Given the description of an element on the screen output the (x, y) to click on. 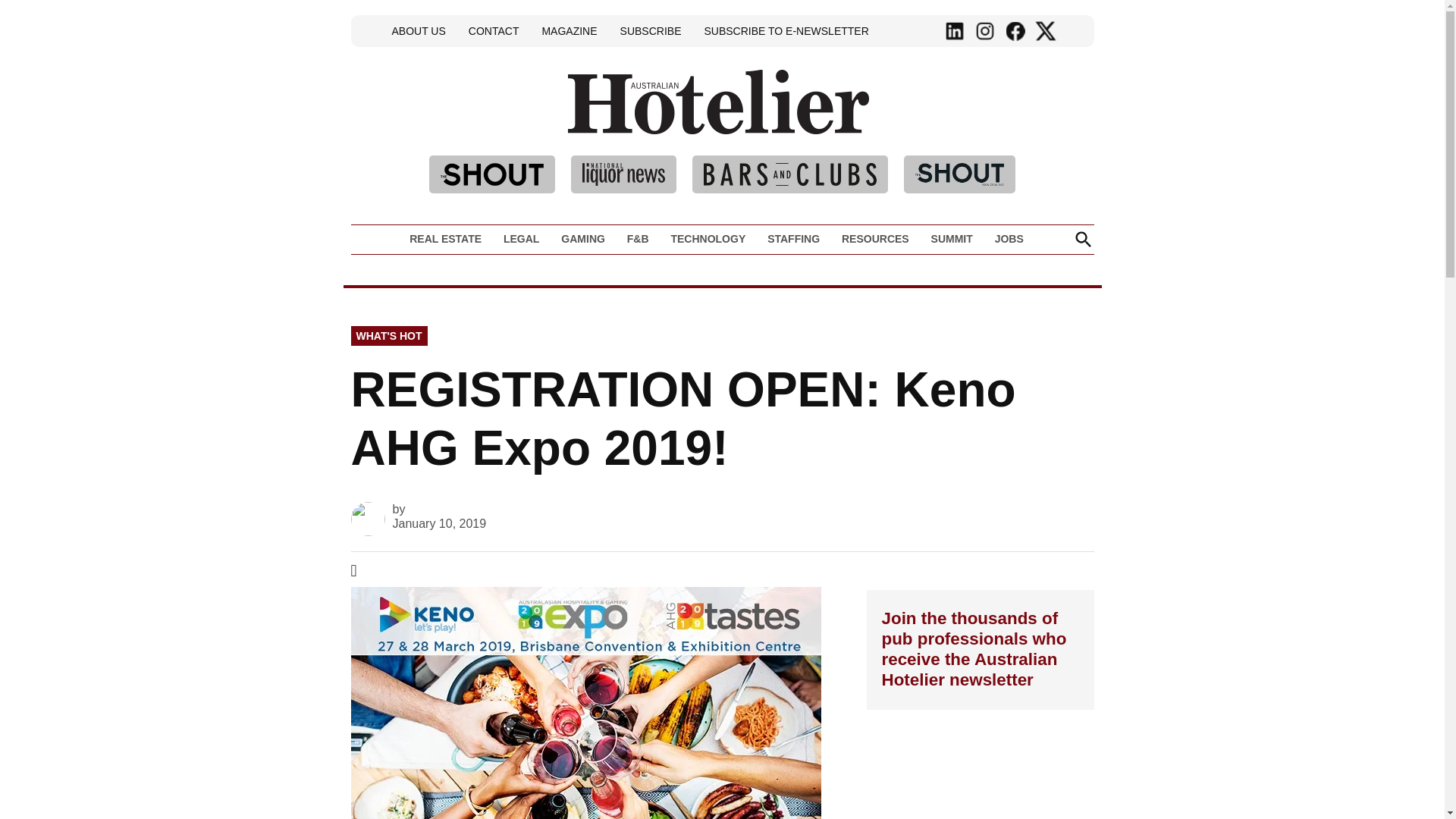
Australian Hotelier (920, 124)
ABOUT US (418, 30)
Facebook (1015, 31)
SUBSCRIBE (650, 30)
MAGAZINE (568, 30)
Instagram (984, 31)
Linkedin (954, 31)
CONTACT (493, 30)
SUBSCRIBE TO E-NEWSLETTER (786, 30)
Twitter (1045, 31)
